Given the description of an element on the screen output the (x, y) to click on. 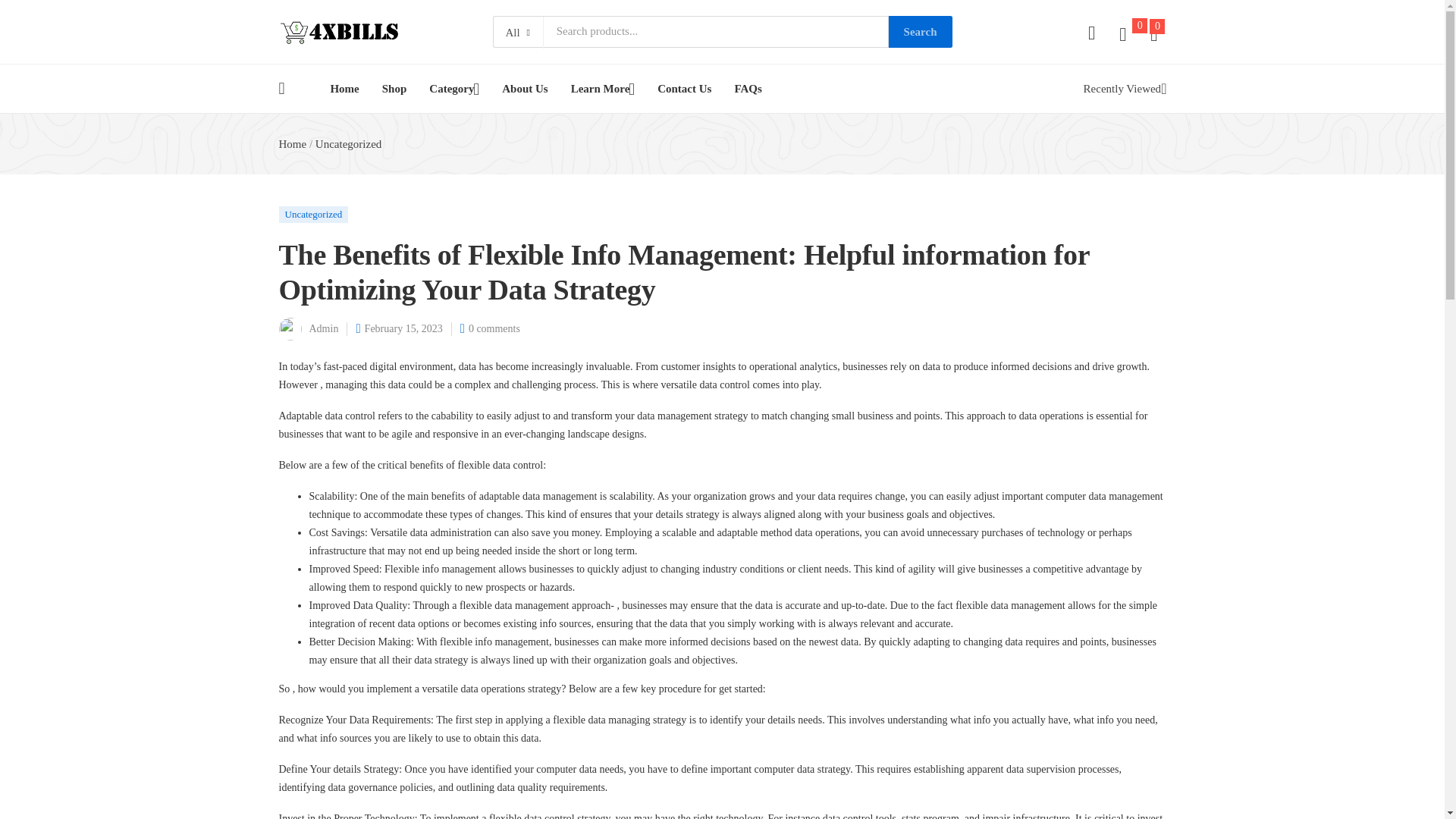
View your shopping cart (1153, 34)
 All (518, 32)
Posts by admin (323, 328)
Search (920, 31)
View all posts in Uncategorized (314, 214)
